Given the description of an element on the screen output the (x, y) to click on. 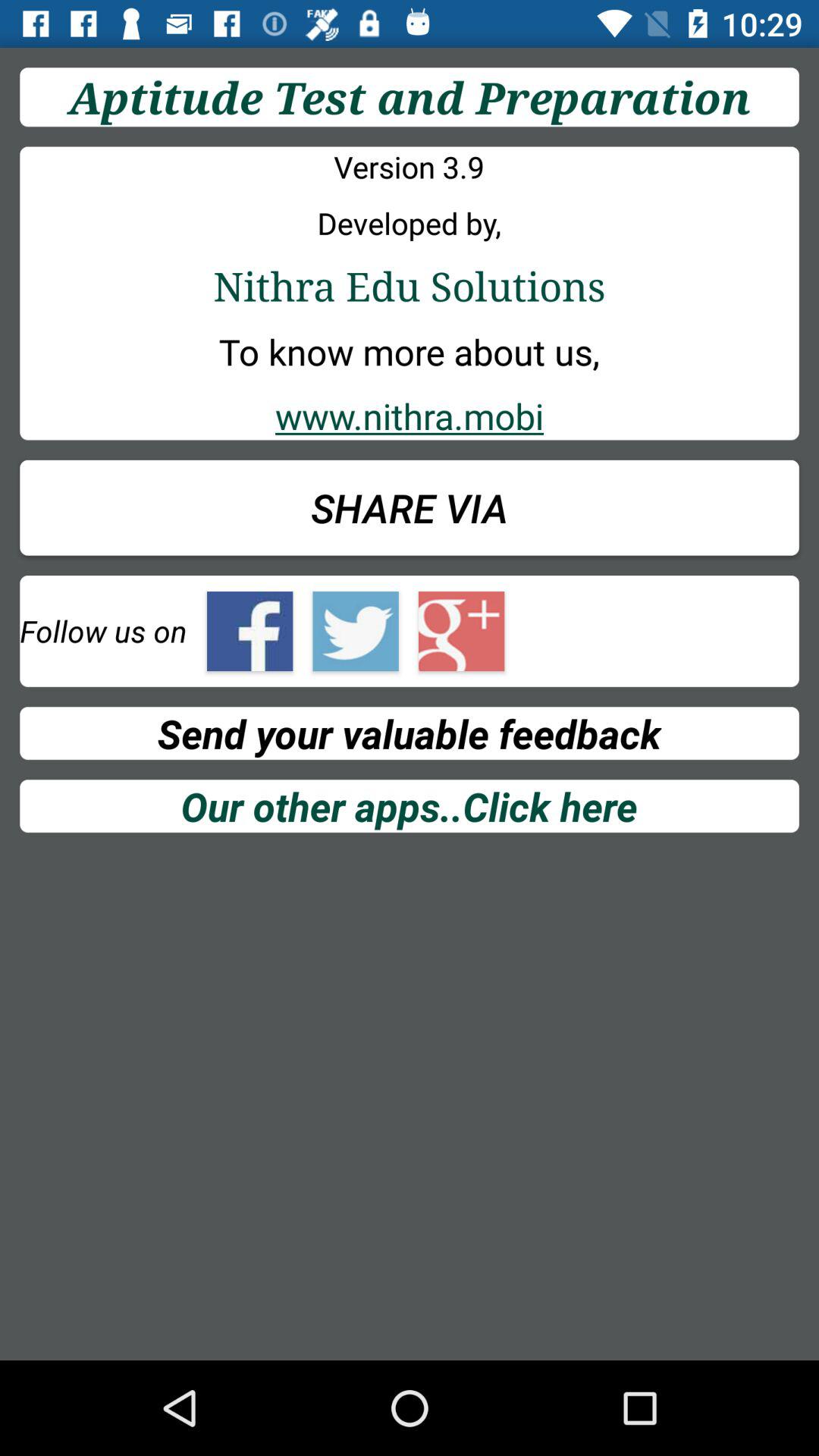
go to google (461, 631)
